Given the description of an element on the screen output the (x, y) to click on. 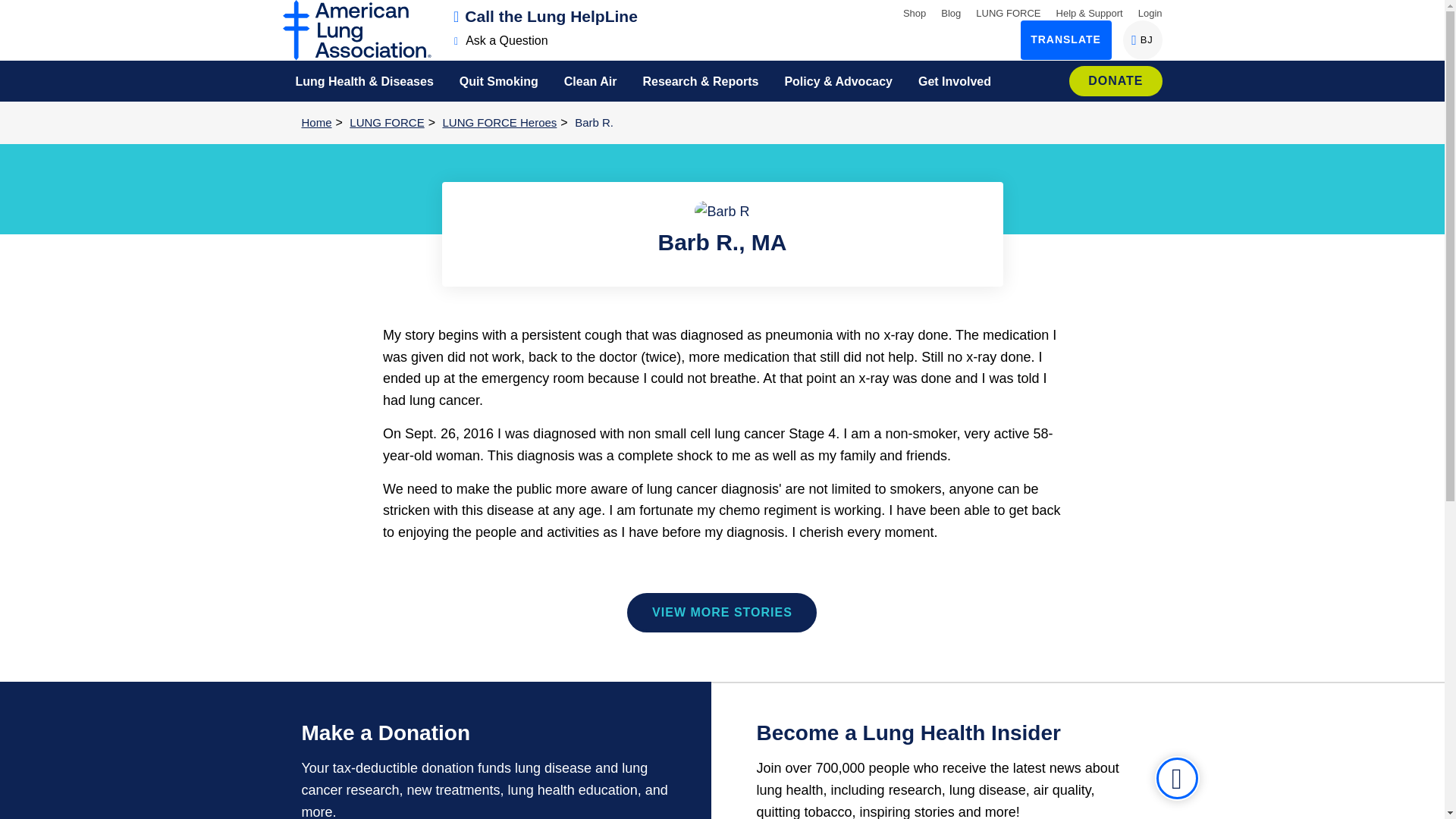
Call the Lung HelpLine (545, 16)
SKIP TO MAIN CONTENT (1141, 39)
LUNG FORCE (18, 10)
TRANSLATE (1008, 13)
Ask a Question (1066, 39)
Login (501, 40)
Blog (1149, 13)
Shop (950, 13)
